Given the description of an element on the screen output the (x, y) to click on. 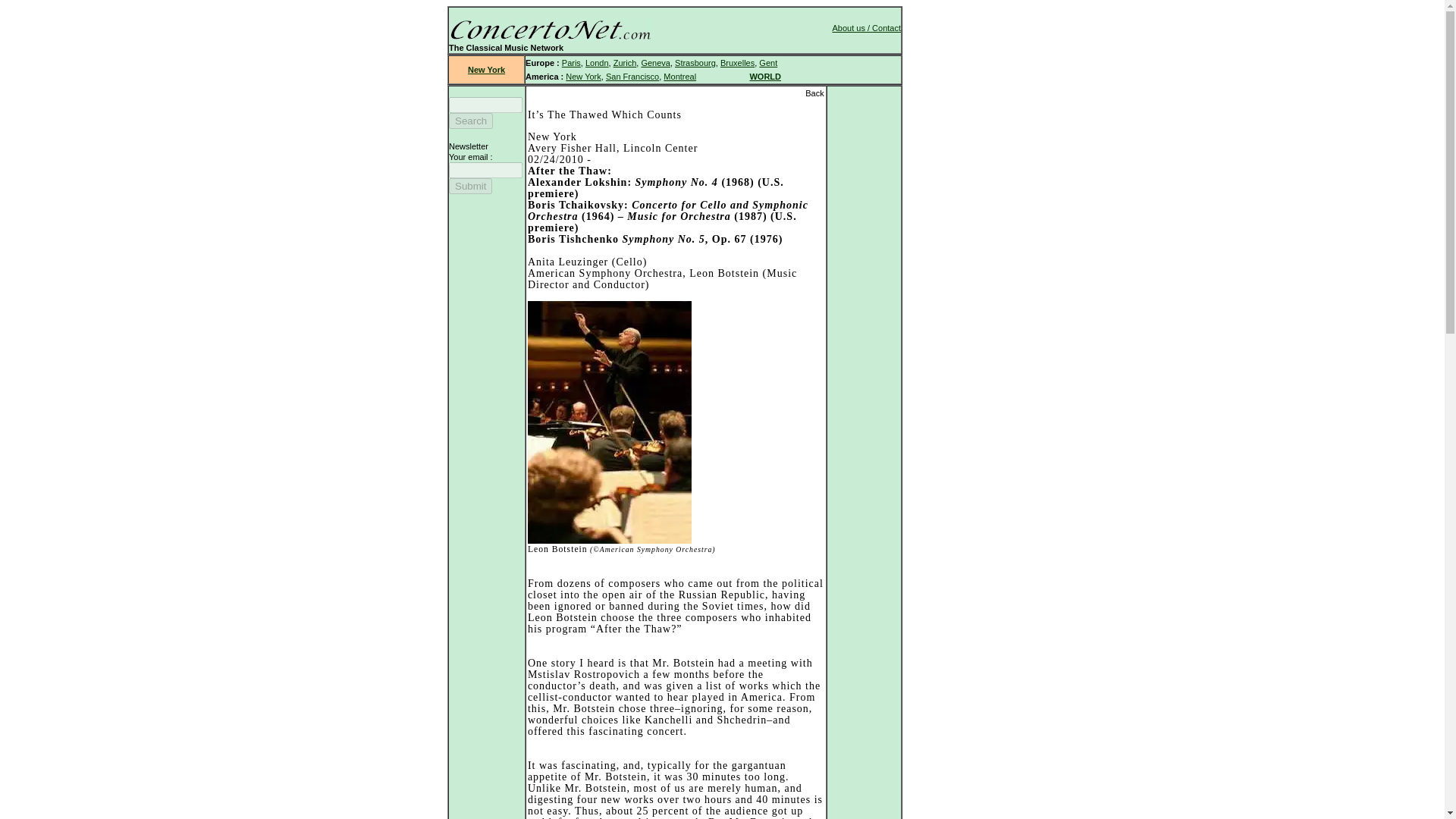
Search (470, 120)
Geneva (654, 62)
Londn (596, 62)
New York (486, 69)
Back (814, 92)
Bruxelles (737, 62)
Submit (470, 186)
WORLD (764, 76)
Strasbourg (695, 62)
New York (582, 76)
Paris (571, 62)
Montreal (679, 76)
Gent (767, 62)
Zurich (624, 62)
Search (470, 120)
